Given the description of an element on the screen output the (x, y) to click on. 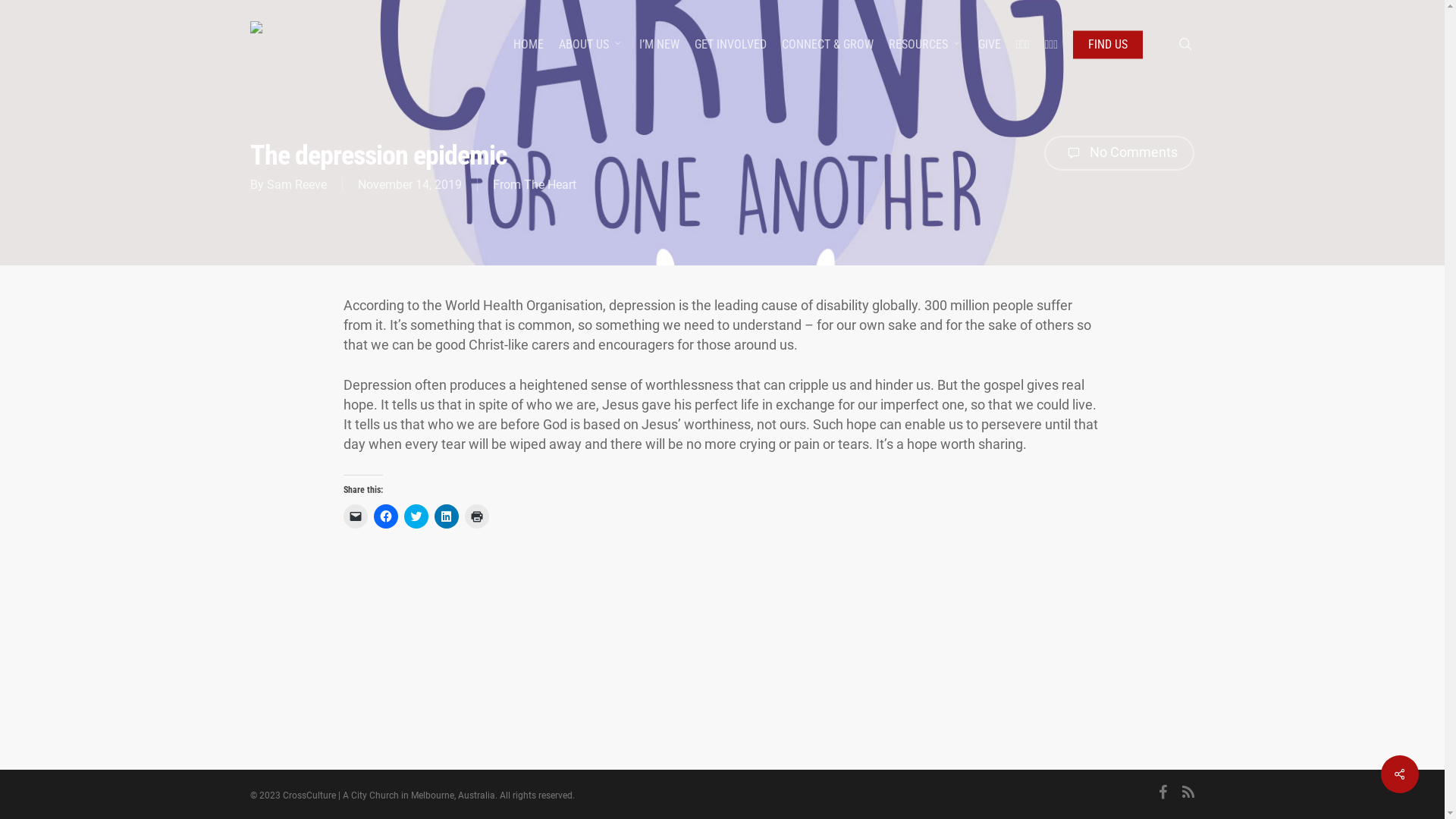
No Comments Element type: text (1119, 152)
RSS Element type: text (1188, 793)
HOME Element type: text (528, 43)
Sam Reeve Element type: text (296, 184)
Click to print (Opens in new window) Element type: text (476, 516)
GIVE Element type: text (989, 43)
CONNECT & GROW Element type: text (827, 43)
search Element type: text (1185, 43)
Click to share on LinkedIn (Opens in new window) Element type: text (445, 516)
GET INVOLVED Element type: text (730, 43)
ABOUT US Element type: text (591, 43)
RESOURCES Element type: text (925, 43)
From The Heart Element type: text (534, 184)
facebook Element type: text (1162, 793)
Click to share on Facebook (Opens in new window) Element type: text (385, 516)
FIND US Element type: text (1107, 43)
Click to share on Twitter (Opens in new window) Element type: text (415, 516)
Click to email a link to a friend (Opens in new window) Element type: text (354, 516)
